Given the description of an element on the screen output the (x, y) to click on. 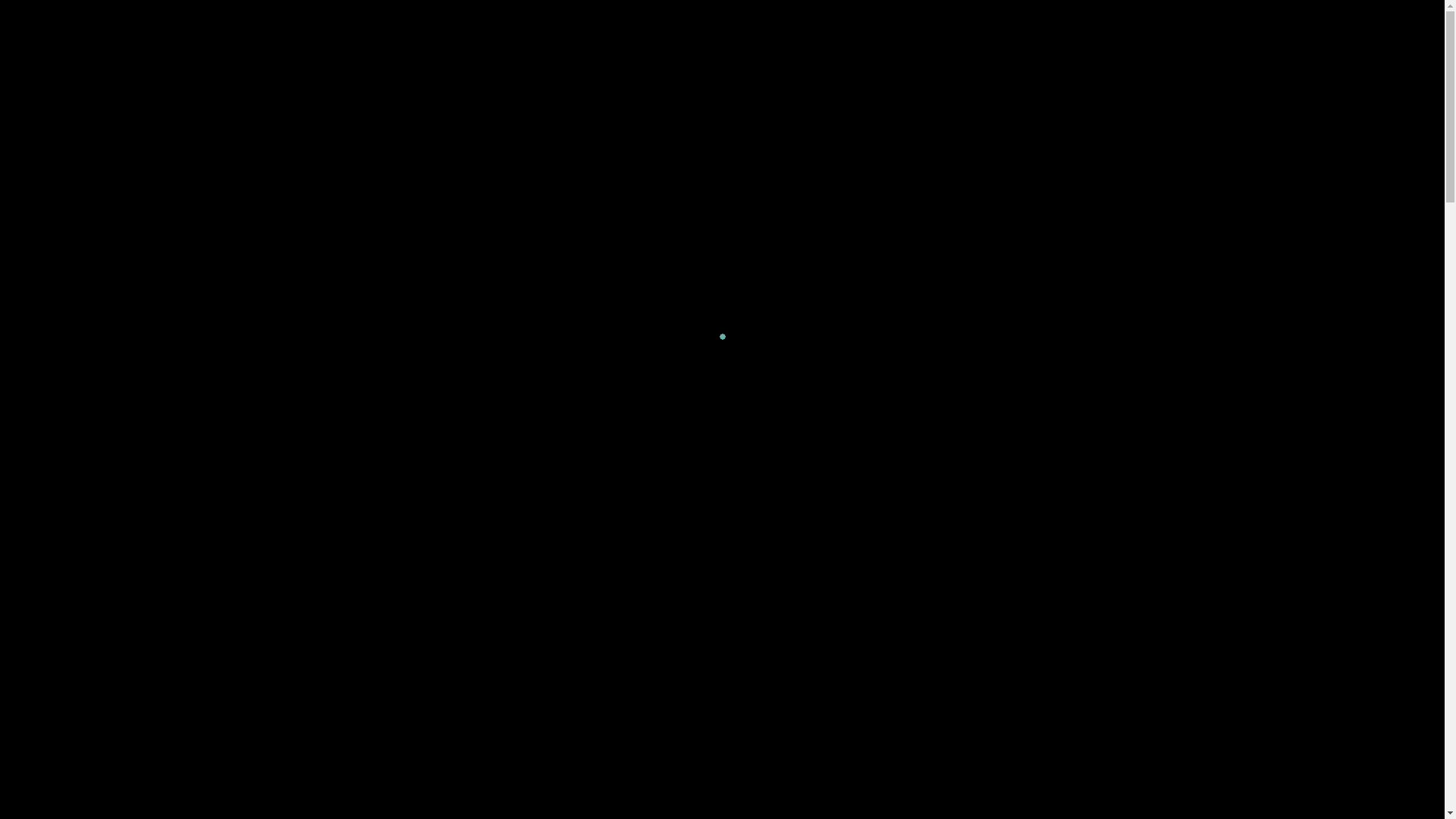
HOME Element type: text (393, 18)
GALLERY Element type: text (683, 18)
OS & INTERSTATE Element type: text (848, 18)
ABOUT Element type: text (447, 18)
SURGICAL Element type: text (511, 18)
SKIN CARE Element type: text (755, 18)
BOOK NOW OR CALL (08) 9383 3309 Element type: text (1016, 93)
FAQ'S Element type: text (927, 18)
CONTACT Element type: text (986, 18)
NON SURGICAL Element type: text (598, 18)
